Given the description of an element on the screen output the (x, y) to click on. 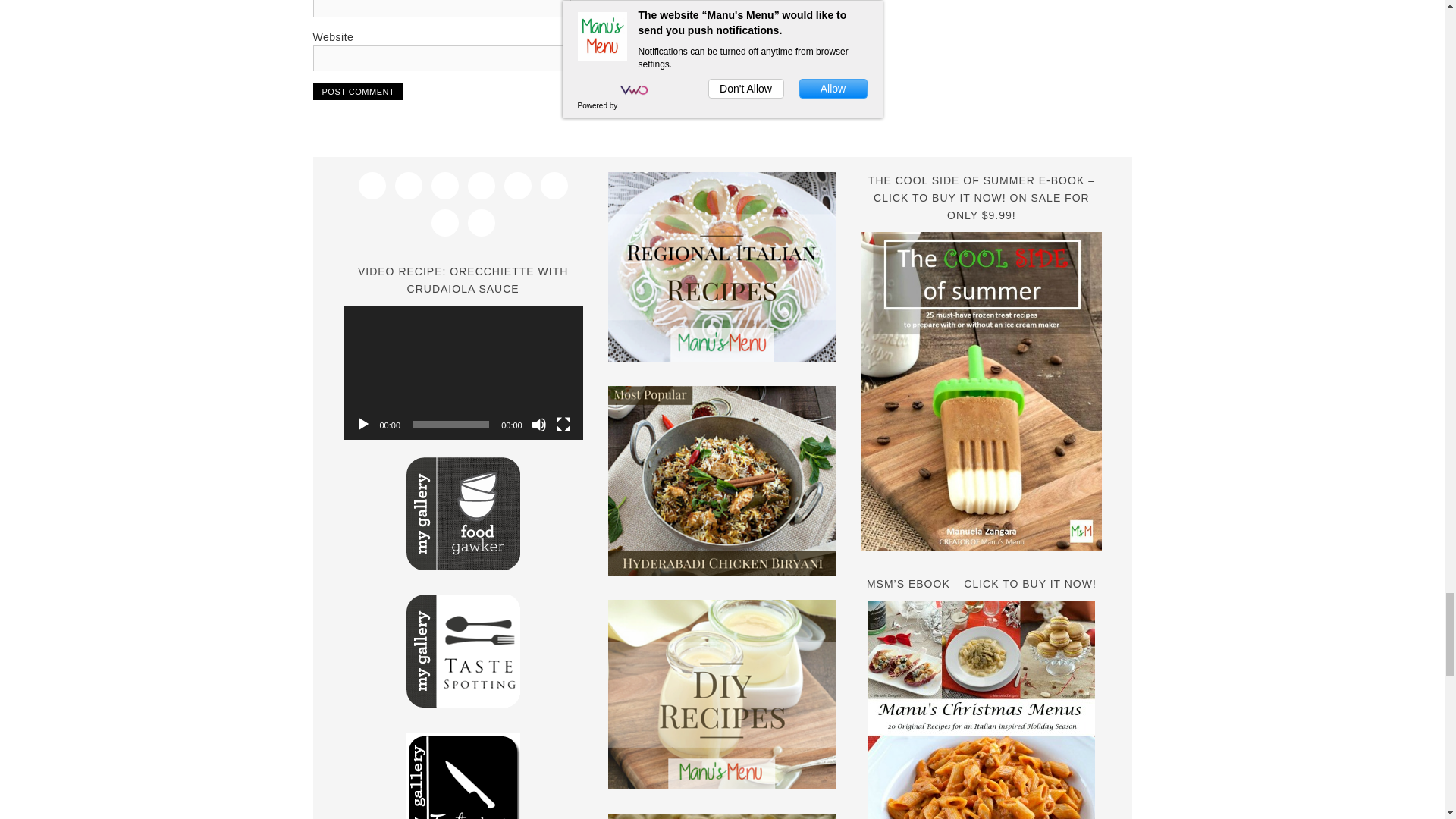
Post Comment (358, 91)
Fullscreen (563, 424)
Mute (539, 424)
Play (362, 424)
